Given the description of an element on the screen output the (x, y) to click on. 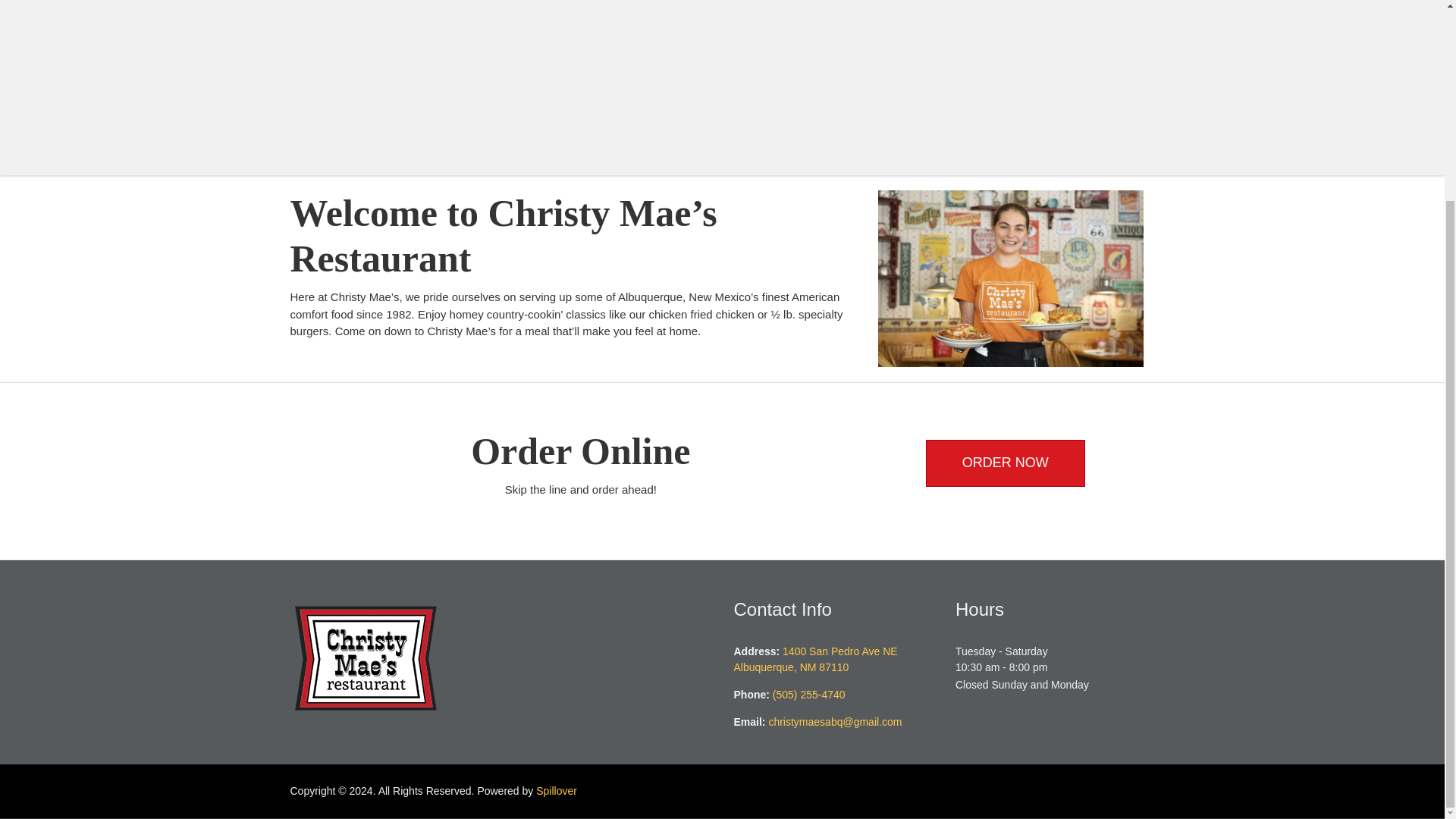
Spillover (815, 659)
ORDER NOW (555, 790)
